Given the description of an element on the screen output the (x, y) to click on. 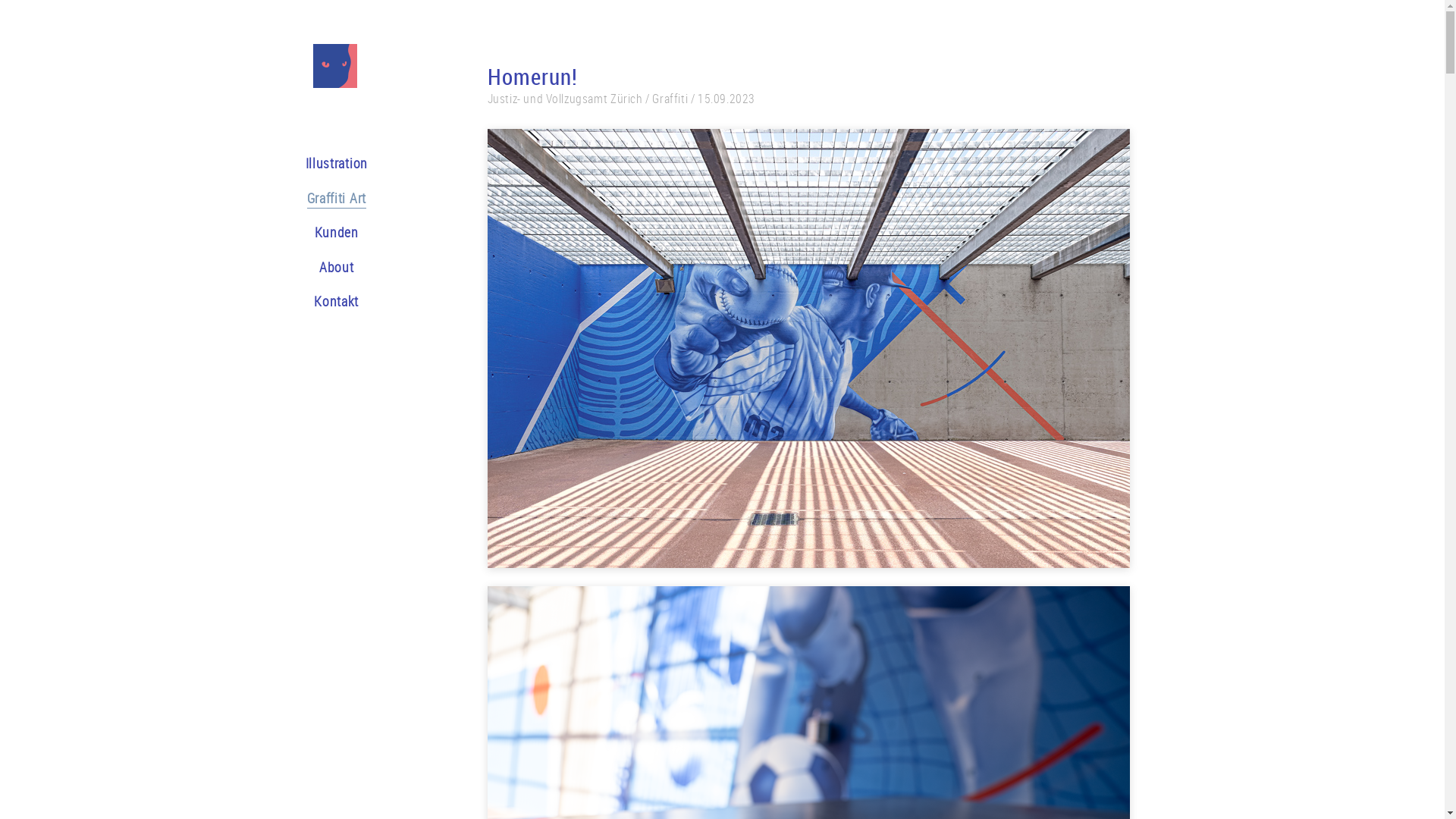
Graffiti Art Element type: text (335, 199)
About Element type: text (336, 268)
Illustration Element type: text (335, 164)
Kontakt Element type: text (335, 302)
Kunden Element type: text (336, 233)
